Given the description of an element on the screen output the (x, y) to click on. 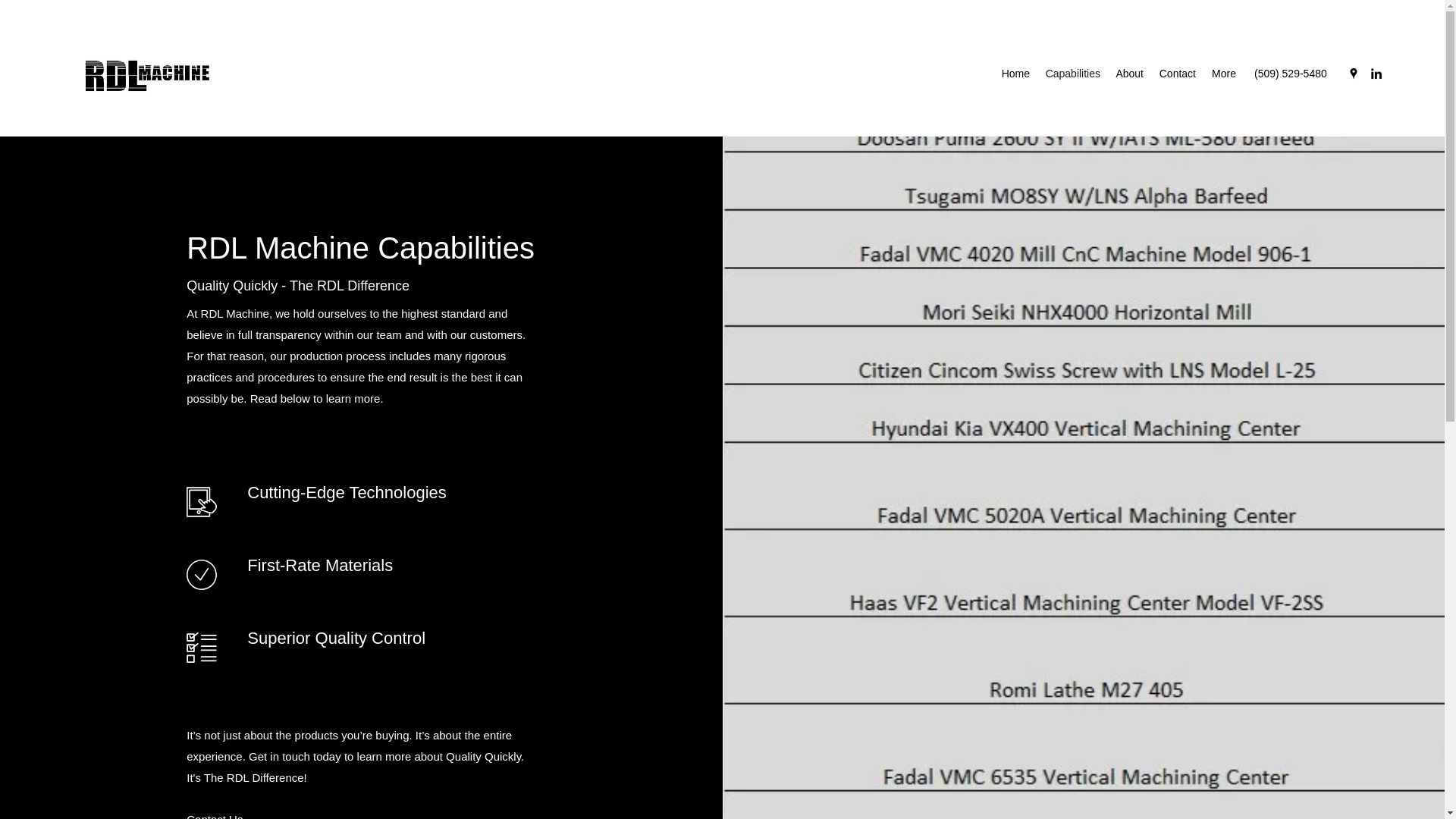
About (1129, 73)
Contact Us (214, 813)
Home (1014, 73)
Contact (1177, 73)
Capabilities (1072, 73)
